Given the description of an element on the screen output the (x, y) to click on. 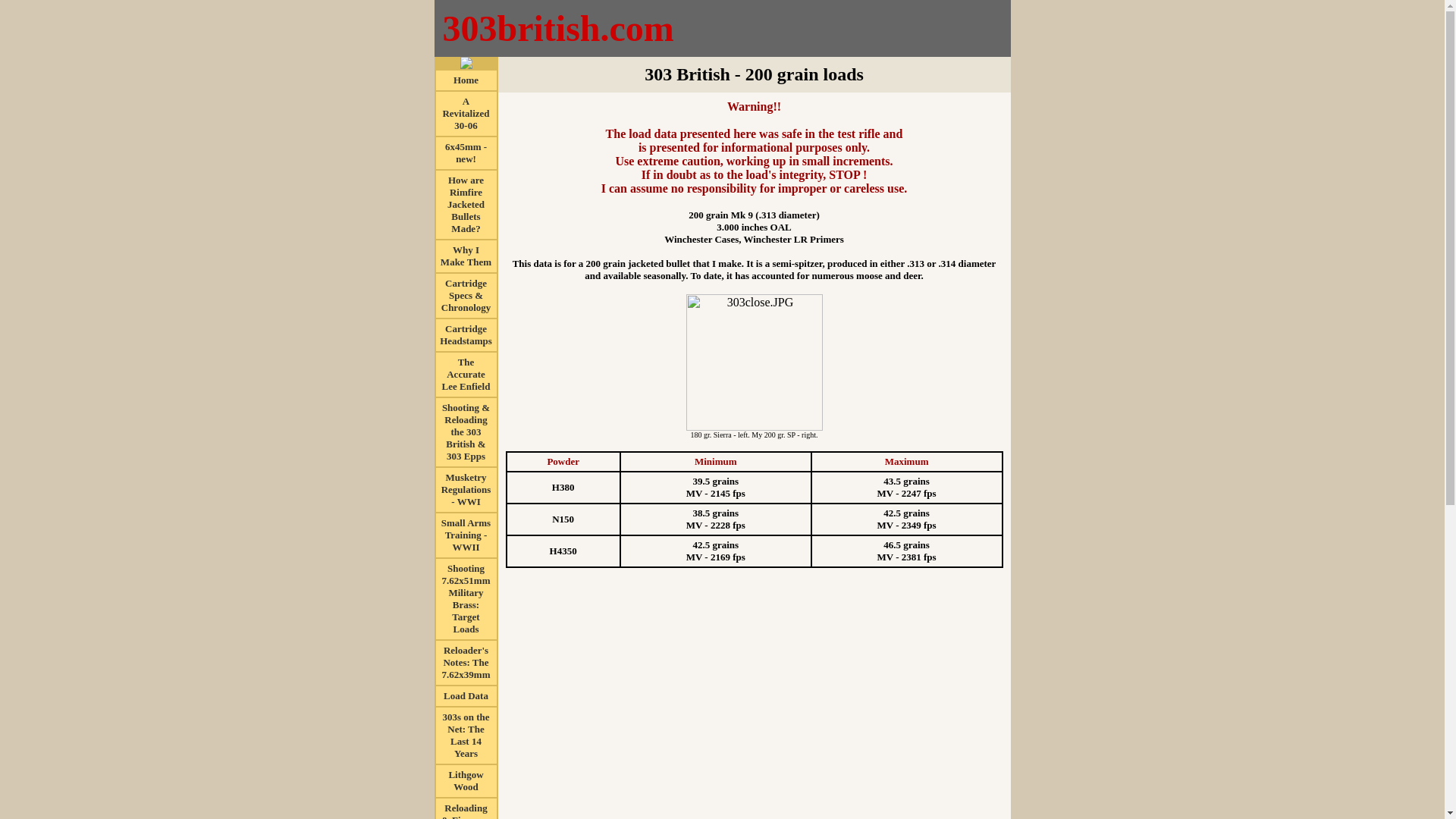
How are Rimfire Jacketed Bullets Made? Element type: text (465, 203)
Shooting 7.62x51mm Military Brass: Target Loads Element type: text (466, 597)
Cartridge Specs & Chronology Element type: text (466, 294)
6x45mm - new! Element type: text (465, 151)
Home Element type: text (465, 78)
Shooting & Reloading the 303 British & 303 Epps Element type: text (465, 430)
Why I Make Them Element type: text (465, 254)
The Accurate Lee Enfield Element type: text (466, 373)
Small Arms Training - WWII Element type: text (465, 533)
Load Data Element type: text (465, 694)
Cartridge Headstamps Element type: text (465, 333)
A Revitalized 30-06 Element type: text (465, 112)
Lithgow Wood Element type: text (465, 779)
Reloader's Notes: The 7.62x39mm Element type: text (466, 661)
Musketry Regulations - WWI Element type: text (466, 488)
303s on the Net: The Last 14 Years Element type: text (465, 734)
